Given the description of an element on the screen output the (x, y) to click on. 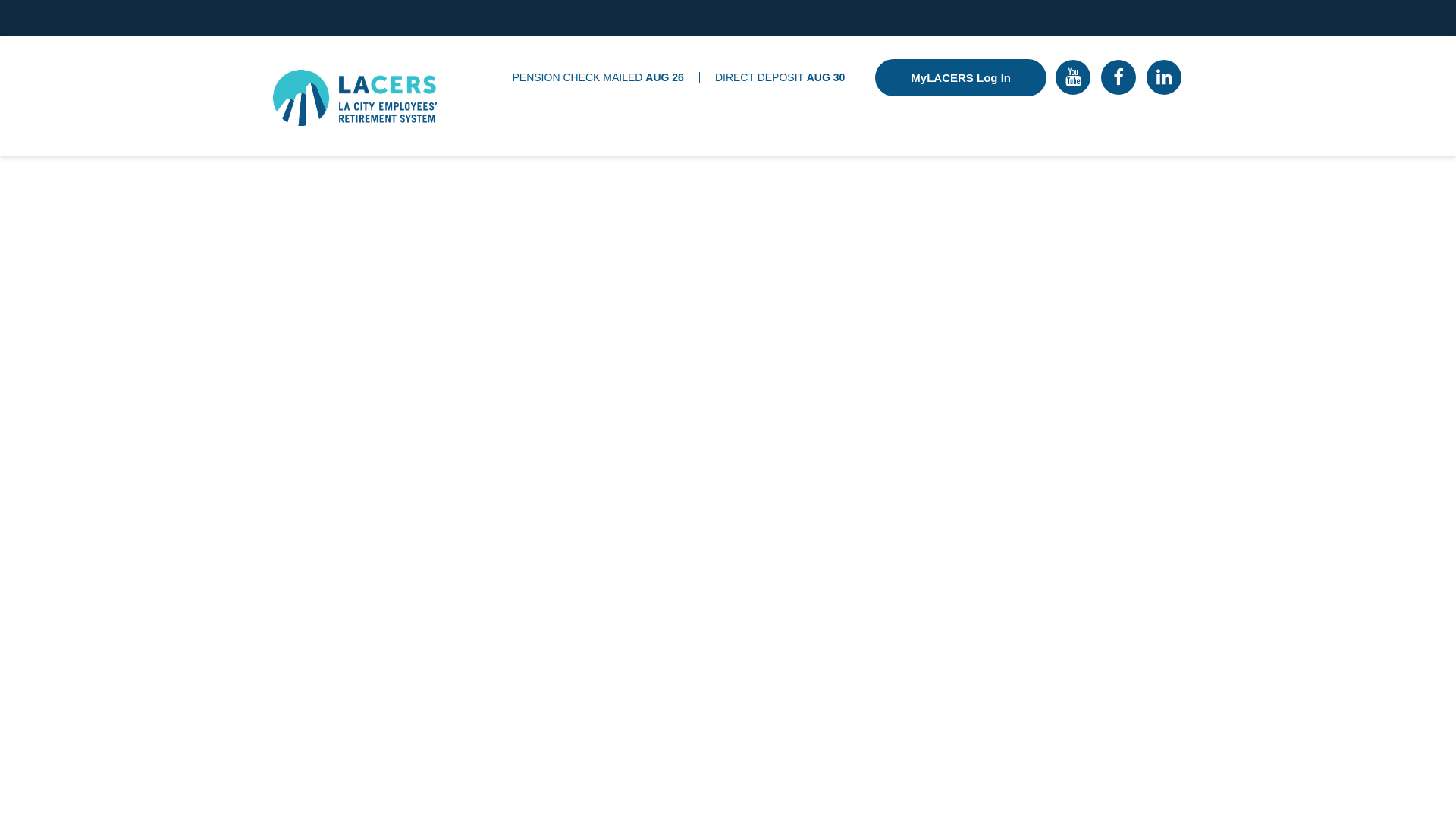
Linkedin (1163, 77)
MyLACERS Log In (960, 77)
PENSION CHECK MAILED AUG 26 (598, 77)
Facebook (1118, 77)
DIRECT DEPOSIT AUG 30 (779, 77)
YouTube (1073, 77)
